Given the description of an element on the screen output the (x, y) to click on. 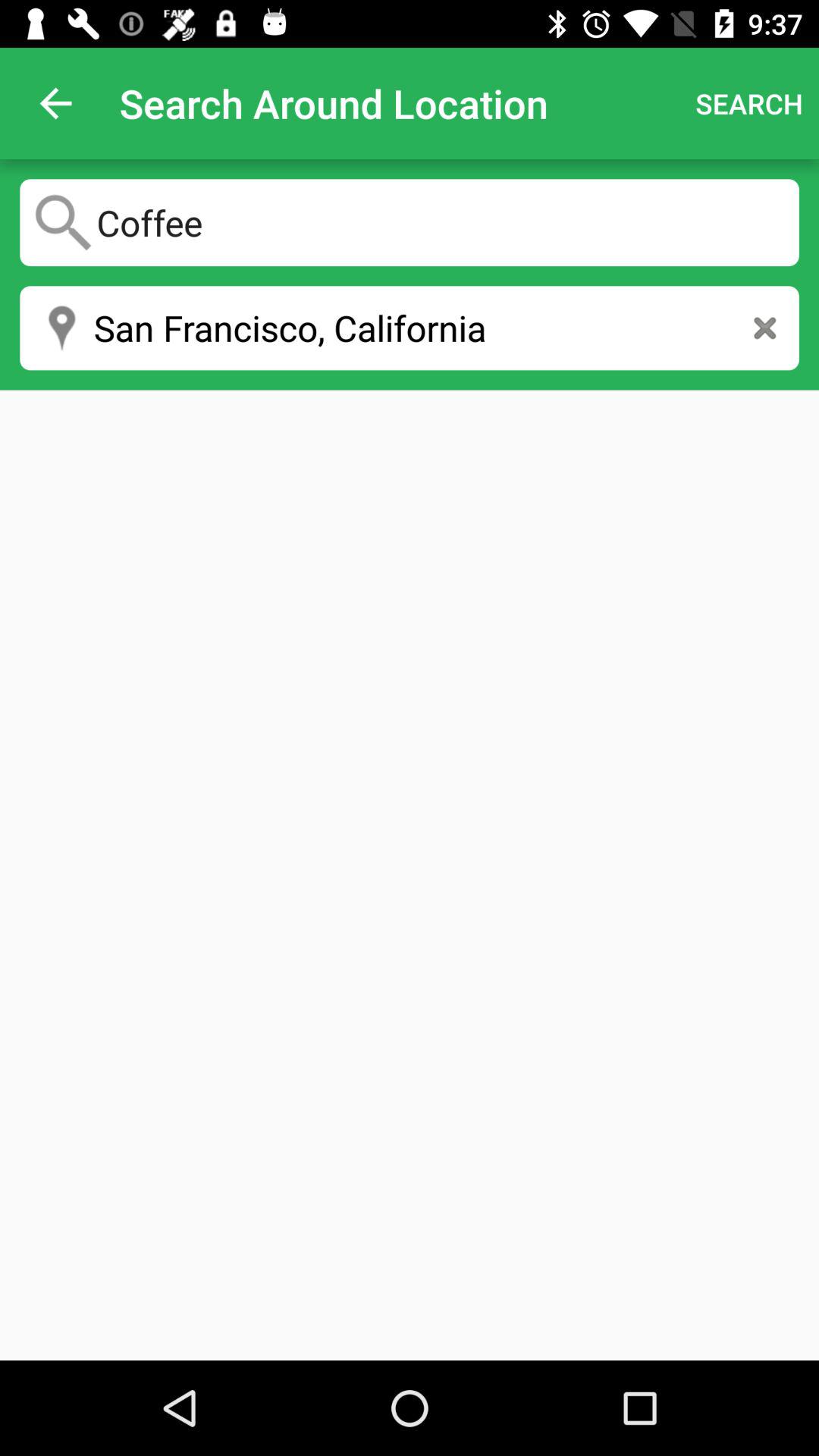
turn on the icon below the coffee icon (409, 328)
